Given the description of an element on the screen output the (x, y) to click on. 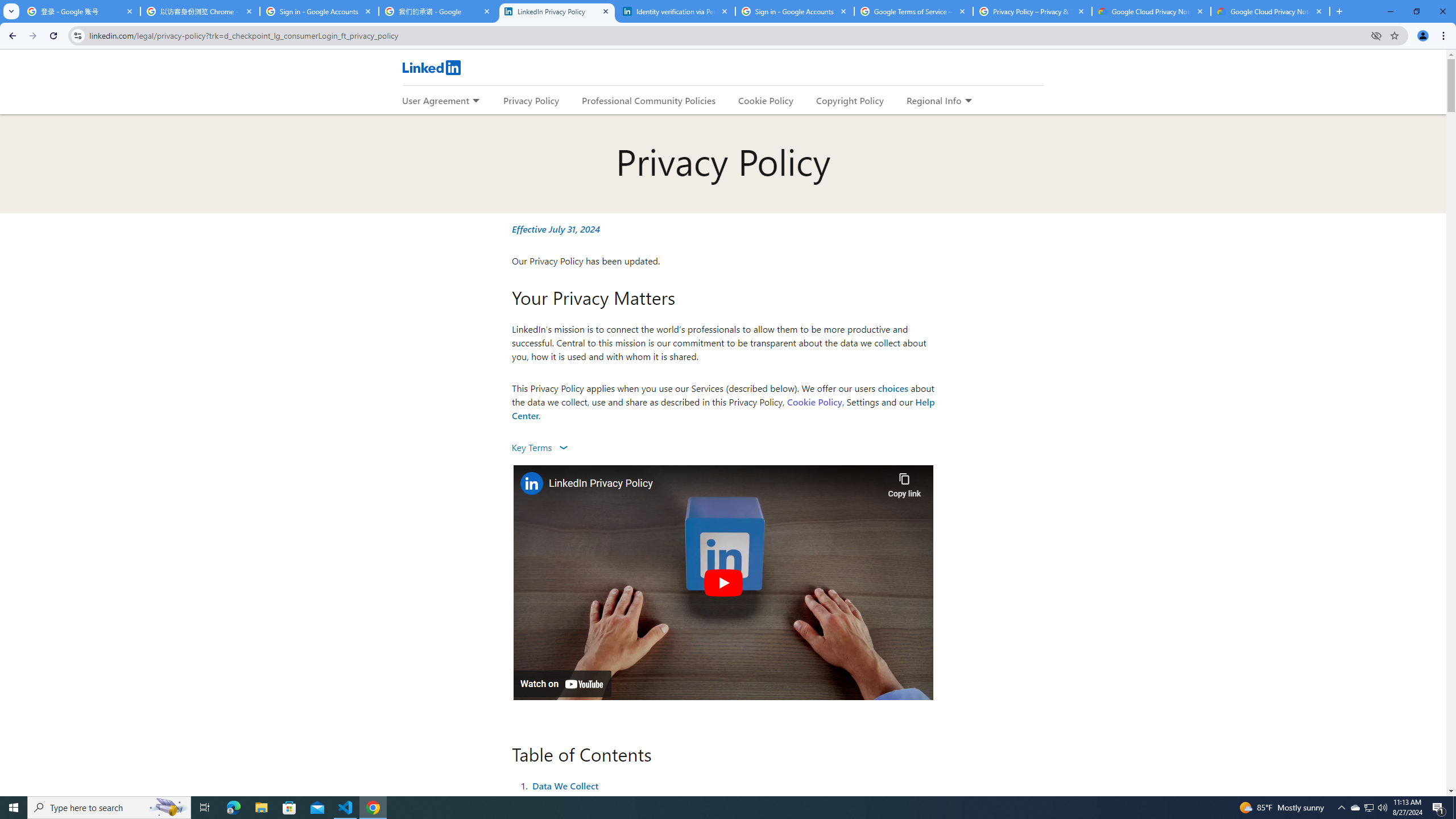
Help Center. (723, 408)
User Agreement (434, 100)
Regional Info (933, 100)
Copyright Policy (849, 100)
Effective July 31, 2024 (555, 228)
Sign in - Google Accounts (319, 11)
